Given the description of an element on the screen output the (x, y) to click on. 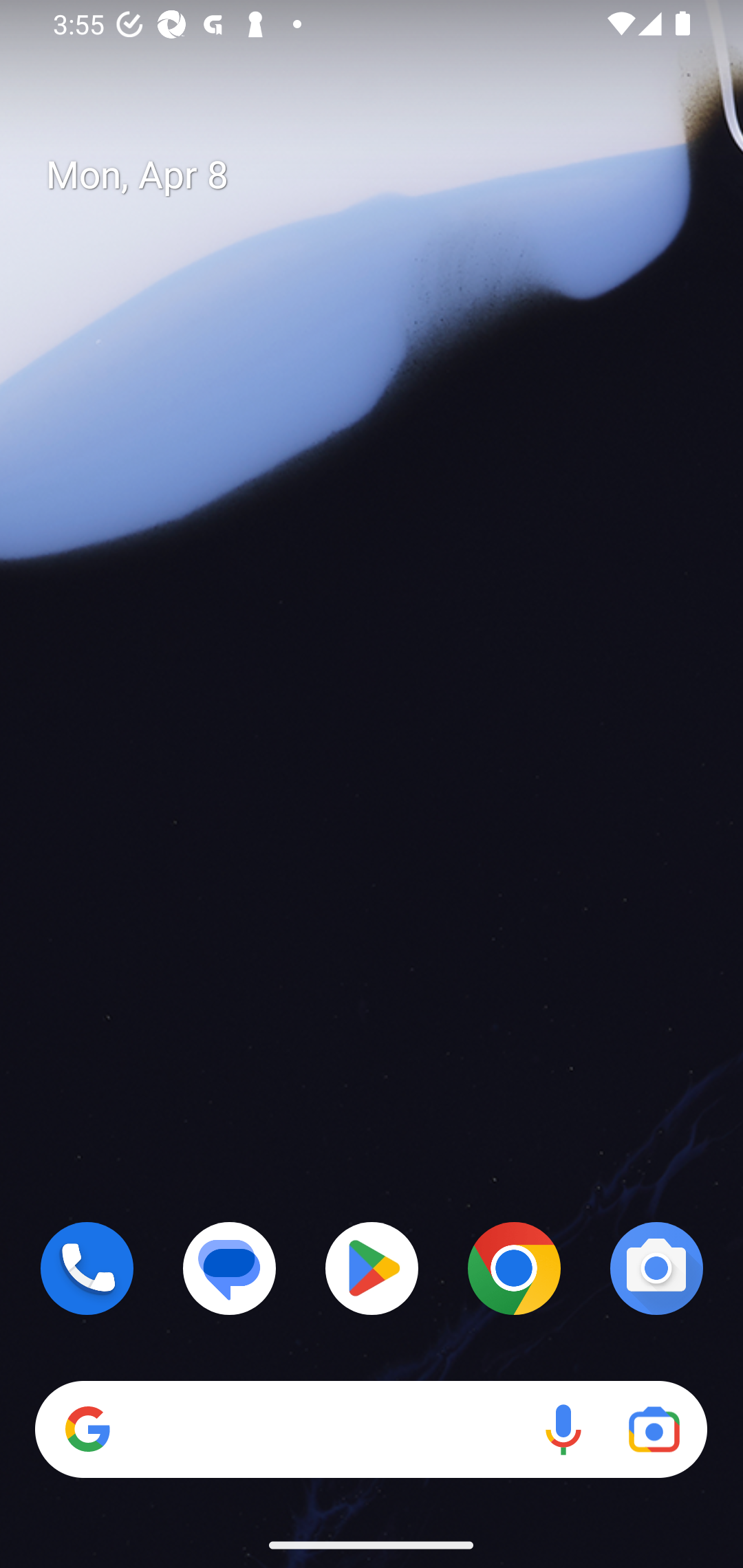
Mon, Apr 8 (386, 175)
Phone (86, 1268)
Messages (229, 1268)
Play Store (371, 1268)
Chrome (513, 1268)
Camera (656, 1268)
Search Voice search Google Lens (370, 1429)
Voice search (562, 1429)
Google Lens (653, 1429)
